Given the description of an element on the screen output the (x, y) to click on. 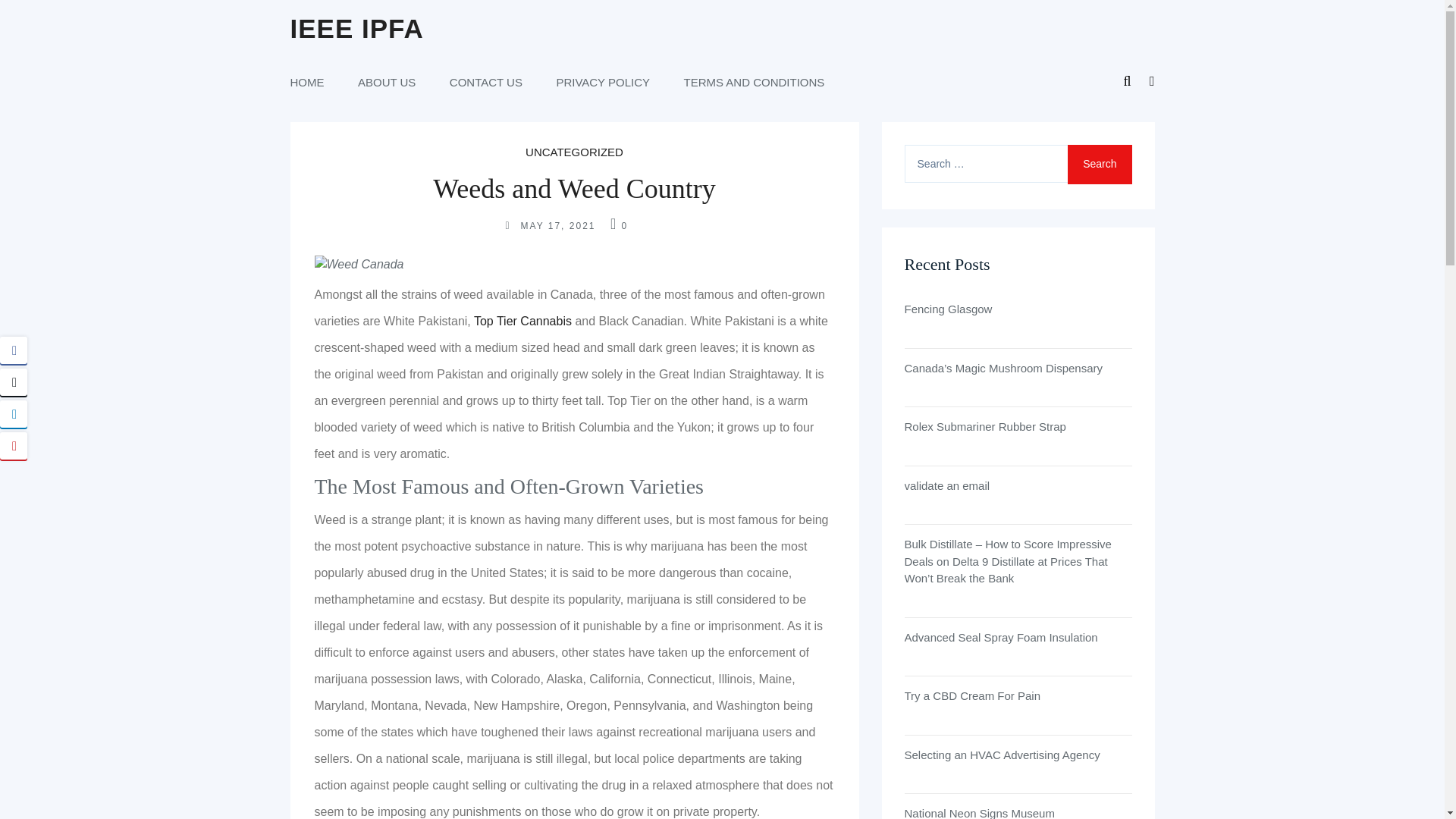
Top Tier Cannabis (524, 320)
National Neon Signs Museum (1018, 812)
Search (1099, 164)
TERMS AND CONDITIONS (754, 82)
Selecting an HVAC Advertising Agency (1018, 755)
Rolex Submariner Rubber Strap (1018, 426)
Advanced Seal Spray Foam Insulation (1018, 638)
UNCATEGORIZED (574, 151)
Post Category (574, 151)
IEEE IPFA (356, 28)
Fencing Glasgow (1018, 309)
Search (1099, 164)
Search (1099, 164)
PRIVACY POLICY (602, 82)
CONTACT US (485, 82)
